Given the description of an element on the screen output the (x, y) to click on. 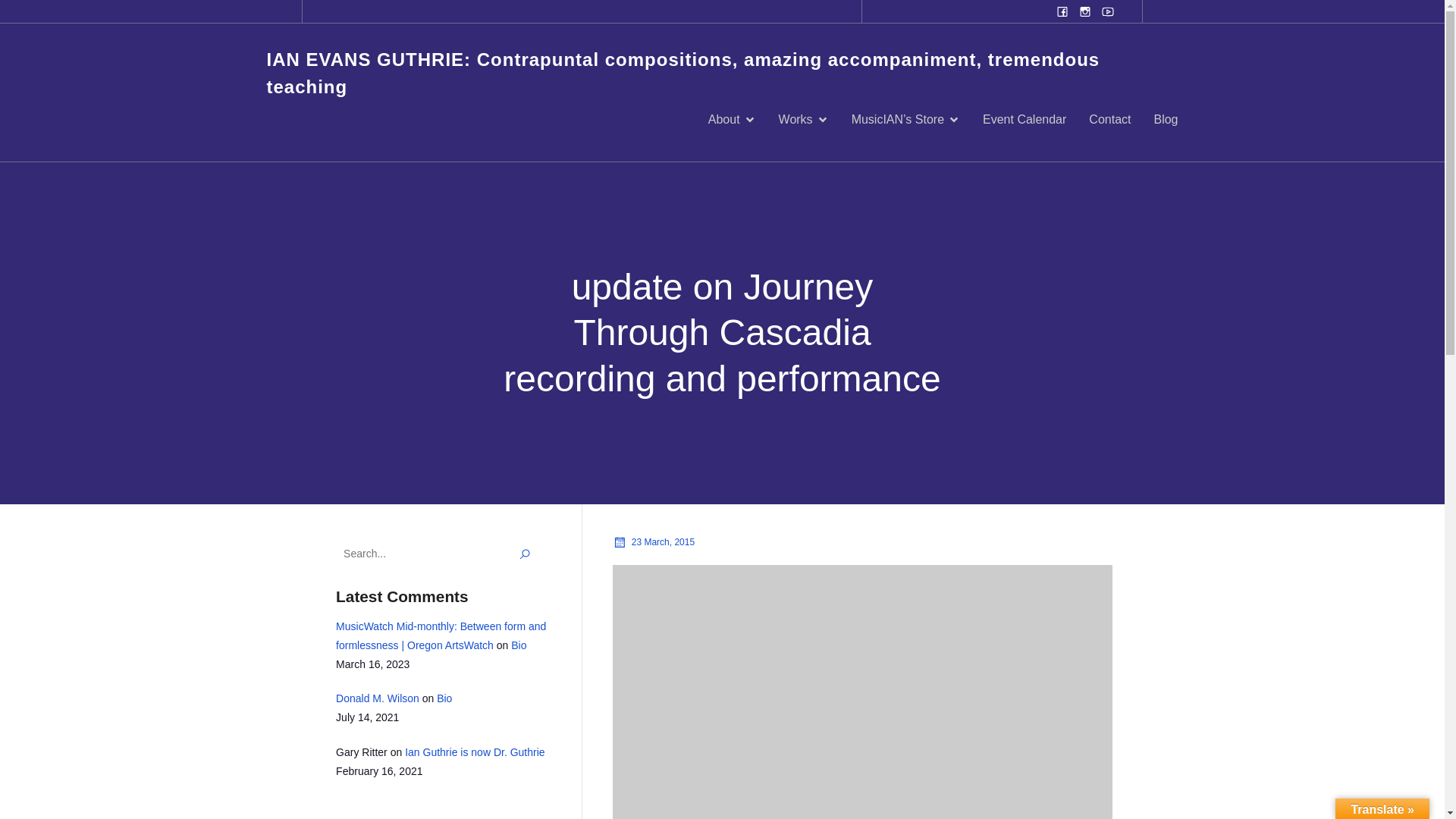
Works (803, 119)
About (731, 119)
